Given the description of an element on the screen output the (x, y) to click on. 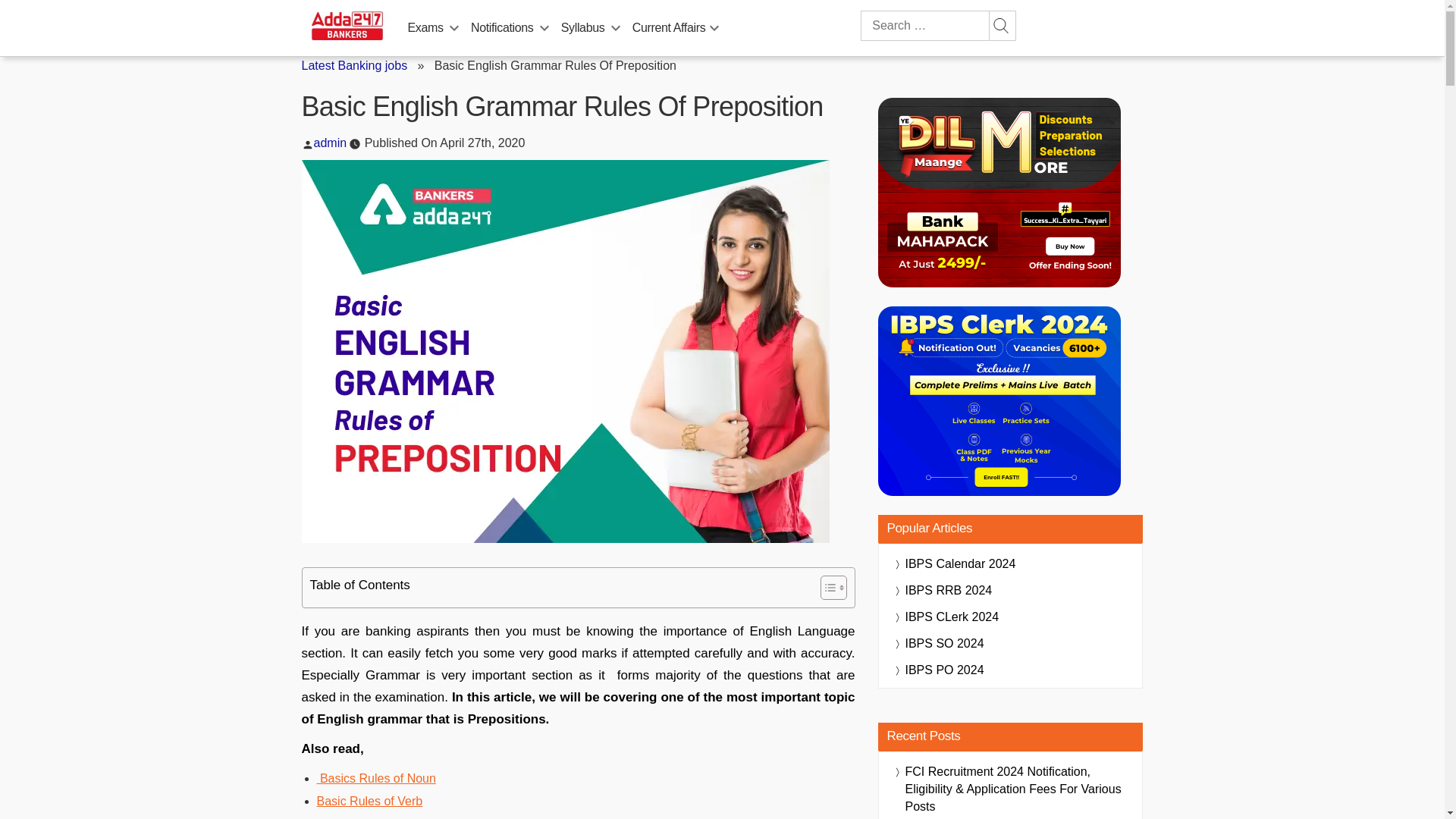
Notifications (501, 28)
Search (1000, 25)
Search (1000, 25)
